Given the description of an element on the screen output the (x, y) to click on. 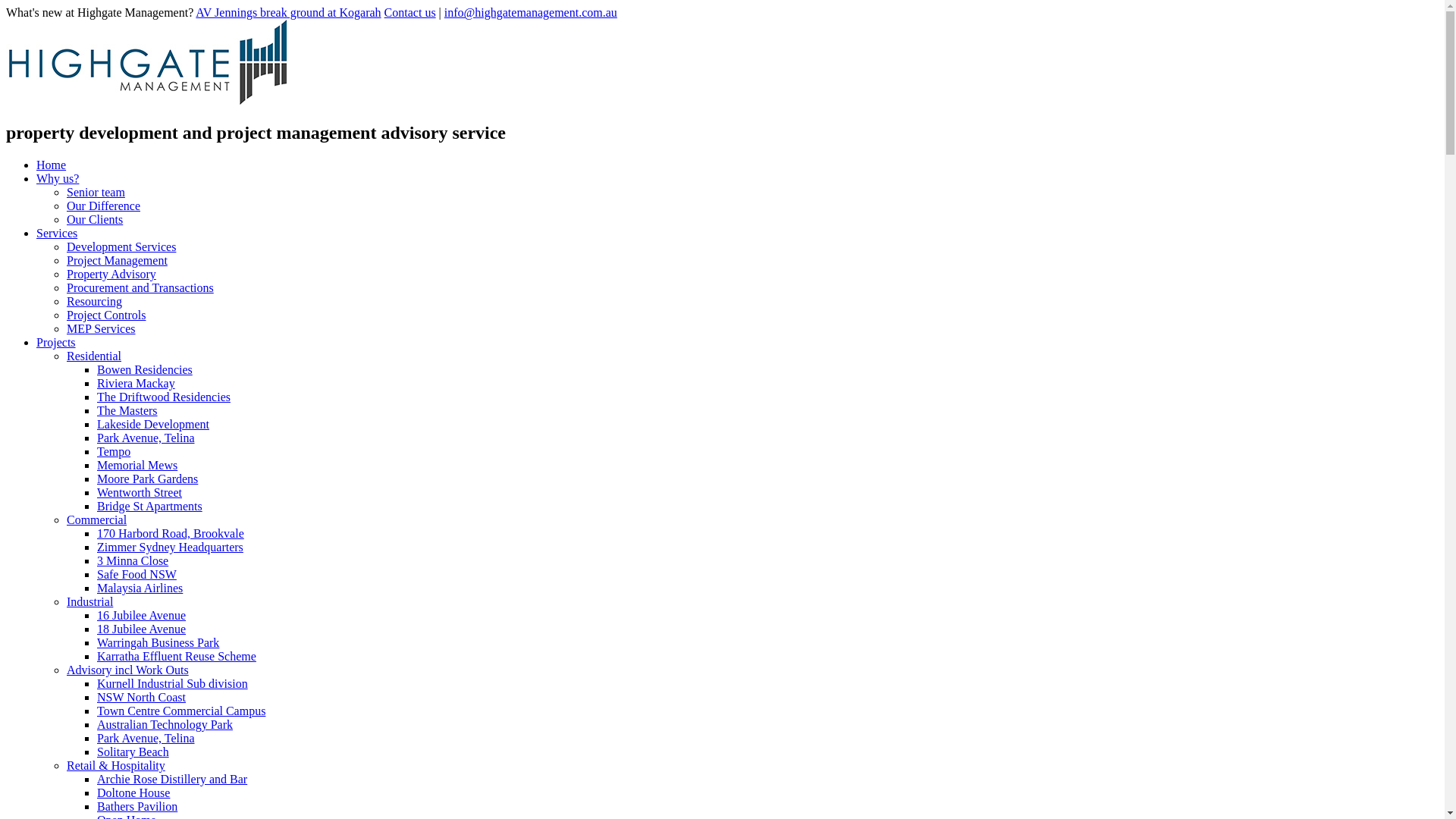
Resourcing Element type: text (94, 300)
Kurnell Industrial Sub division Element type: text (172, 683)
info@highgatemanagement.com.au Element type: text (530, 12)
NSW North Coast Element type: text (141, 696)
Why us? Element type: text (57, 178)
Contact us Element type: text (410, 12)
3 Minna Close Element type: text (132, 560)
18 Jubilee Avenue Element type: text (141, 628)
Doltone House Element type: text (133, 792)
Malaysia Airlines Element type: text (139, 587)
16 Jubilee Avenue Element type: text (141, 614)
Park Avenue, Telina Element type: text (145, 737)
Industrial Element type: text (89, 601)
AV Jennings break ground at Kogarah Element type: text (287, 12)
Wentworth Street Element type: text (139, 492)
Bathers Pavilion Element type: text (137, 806)
Archie Rose Distillery and Bar Element type: text (172, 778)
Projects Element type: text (55, 341)
The Masters Element type: text (127, 410)
Bridge St Apartments Element type: text (149, 505)
Services Element type: text (56, 232)
Procurement and Transactions Element type: text (139, 287)
Residential Element type: text (93, 355)
Town Centre Commercial Campus Element type: text (181, 710)
Commercial Element type: text (96, 519)
Riviera Mackay Element type: text (136, 382)
Senior team Element type: text (95, 191)
Safe Food NSW Element type: text (136, 573)
Our Clients Element type: text (94, 219)
Warringah Business Park Element type: text (158, 642)
Moore Park Gardens Element type: text (147, 478)
Zimmer Sydney Headquarters Element type: text (170, 546)
Park Avenue, Telina Element type: text (145, 437)
Our Difference Element type: text (103, 205)
Property Advisory Element type: text (111, 273)
Bowen Residencies Element type: text (144, 369)
Home Element type: text (50, 164)
170 Harbord Road, Brookvale Element type: text (170, 533)
Tempo Element type: text (113, 451)
Lakeside Development Element type: text (153, 423)
Project Controls Element type: text (105, 314)
Memorial Mews Element type: text (137, 464)
Project Management Element type: text (116, 260)
Solitary Beach Element type: text (133, 751)
The Driftwood Residencies Element type: text (163, 396)
MEP Services Element type: text (100, 328)
Development Services Element type: text (120, 246)
Karratha Effluent Reuse Scheme Element type: text (176, 655)
Australian Technology Park Element type: text (164, 724)
Advisory incl Work Outs Element type: text (127, 669)
Retail & Hospitality Element type: text (115, 765)
